Given the description of an element on the screen output the (x, y) to click on. 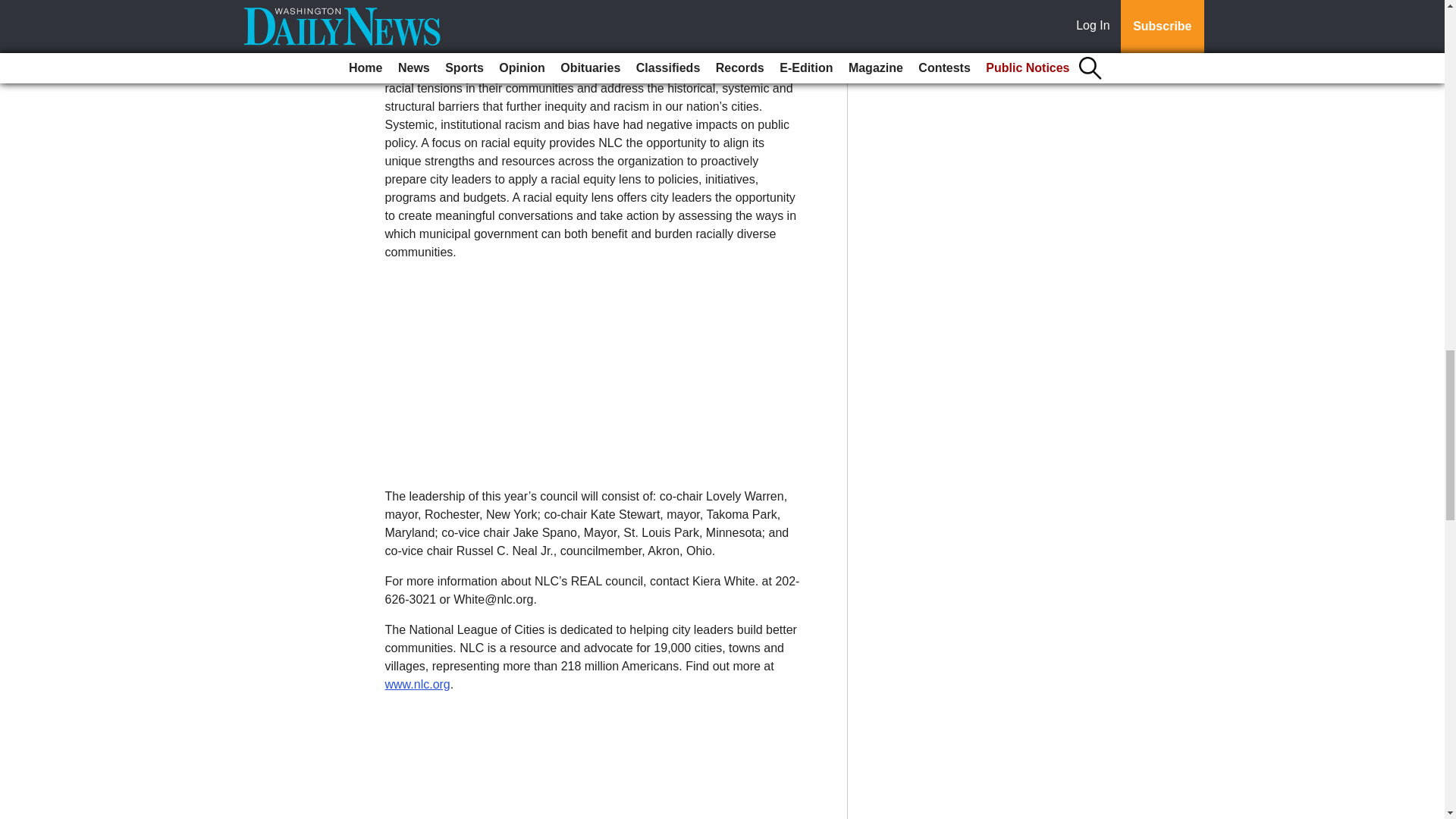
www.nlc.org (417, 684)
